Given the description of an element on the screen output the (x, y) to click on. 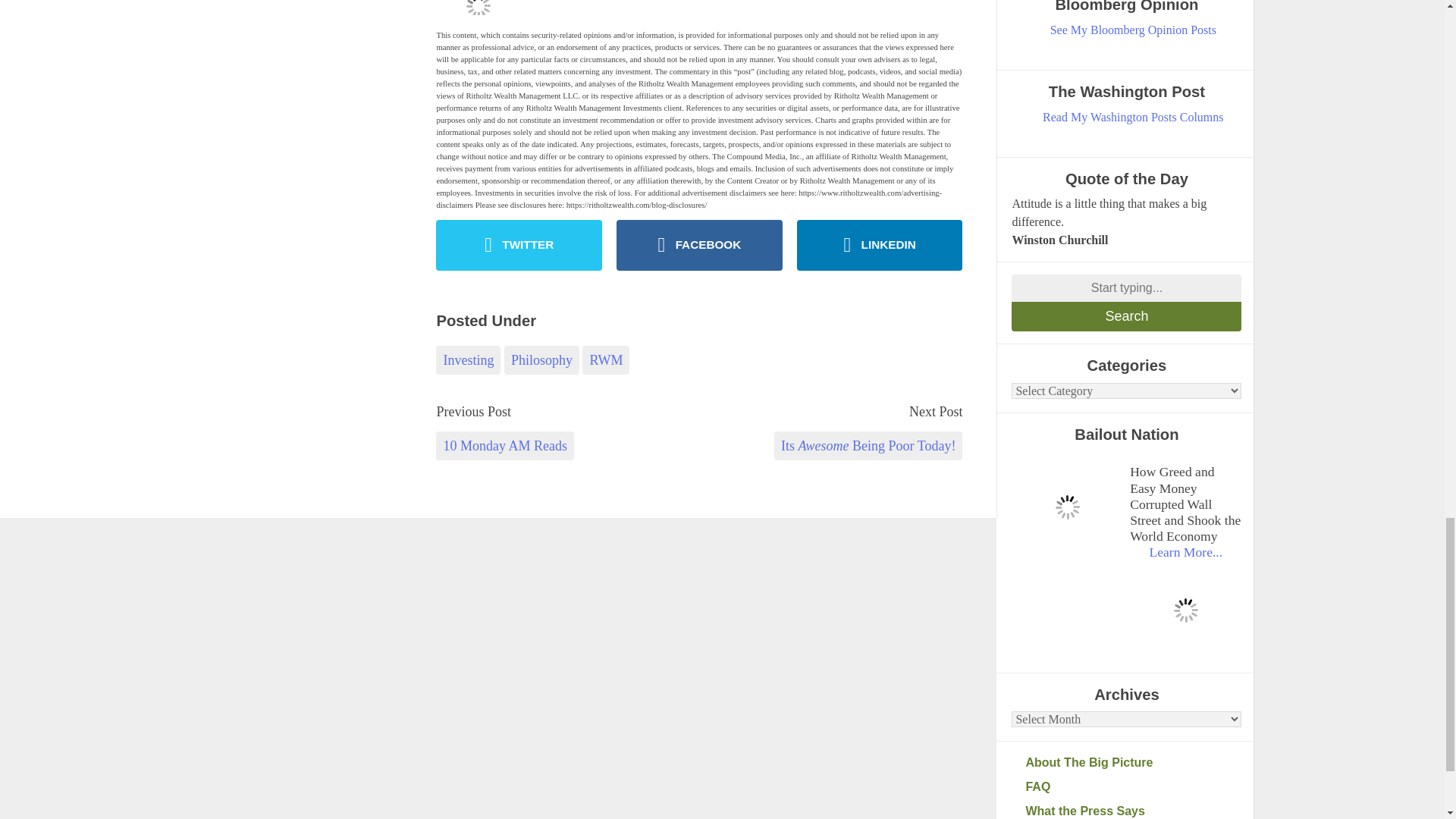
Learn More... (1185, 552)
Search (1126, 316)
LINKEDIN (879, 245)
About The Big Picture (1133, 762)
TWITTER (518, 245)
RWM (605, 359)
Investing (467, 359)
Bailout Nation (1066, 506)
FACEBOOK (699, 245)
Read My Washington Posts Columns (1132, 117)
